Given the description of an element on the screen output the (x, y) to click on. 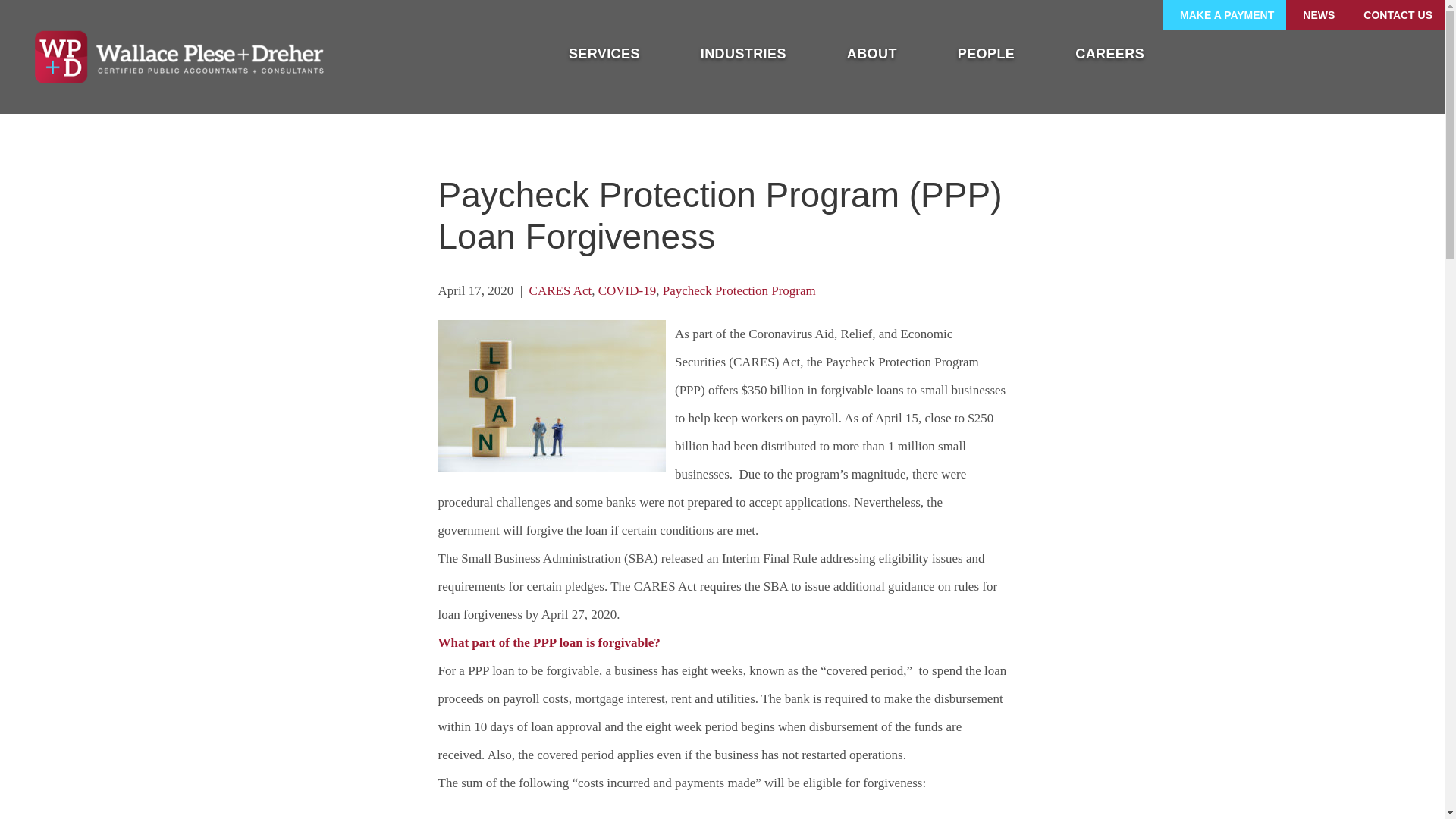
ABOUT (871, 53)
INDUSTRIES (742, 53)
NEWS (1315, 15)
MAKE A PAYMENT (1224, 15)
COVID-19 (627, 290)
SERVICES (603, 53)
PEOPLE (986, 53)
CAREERS (1109, 53)
CARES Act (560, 290)
